Given the description of an element on the screen output the (x, y) to click on. 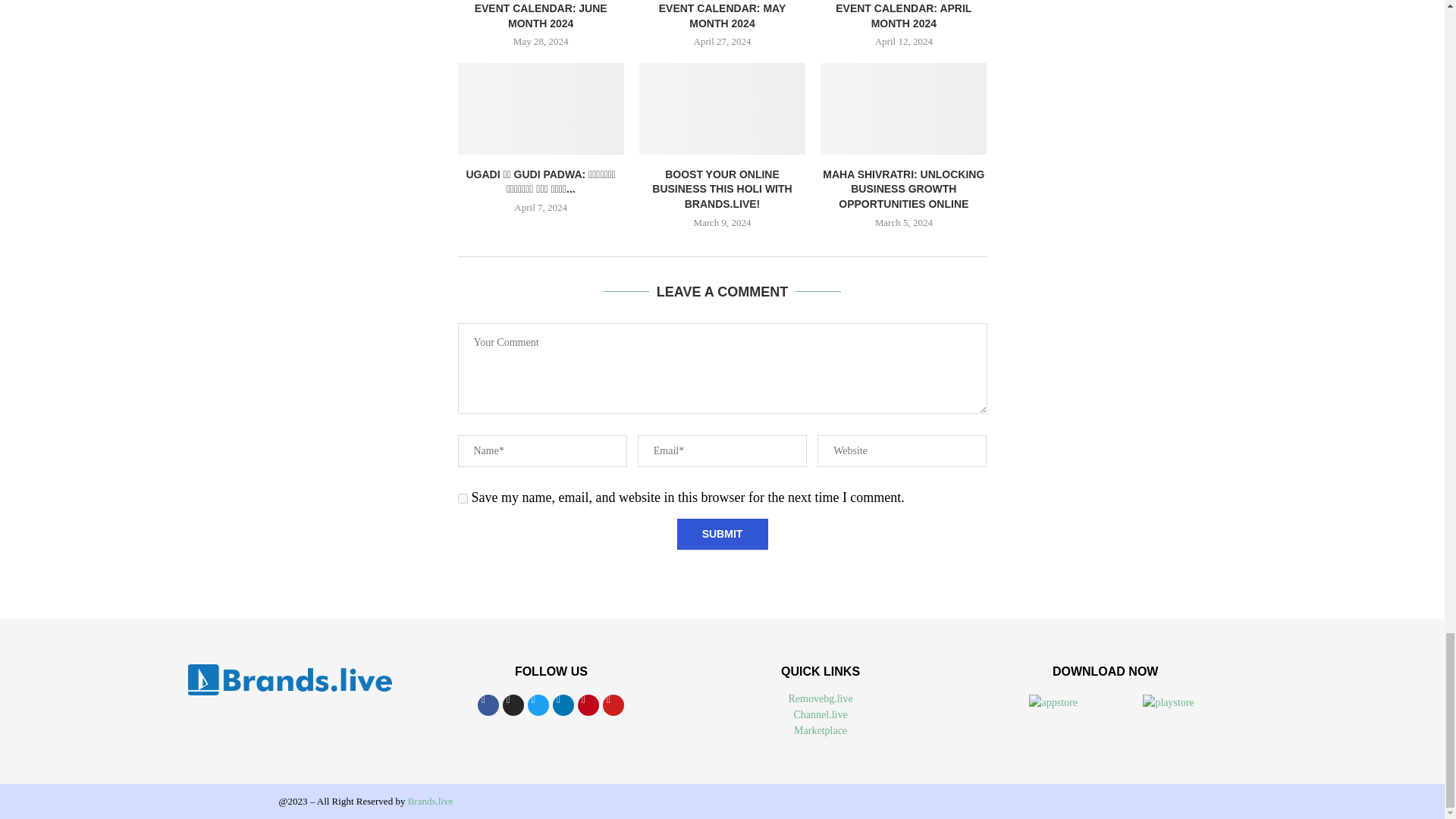
yes (462, 498)
Boost Your Online Business this Holi with Brands.live! (722, 108)
Submit (722, 533)
